Given the description of an element on the screen output the (x, y) to click on. 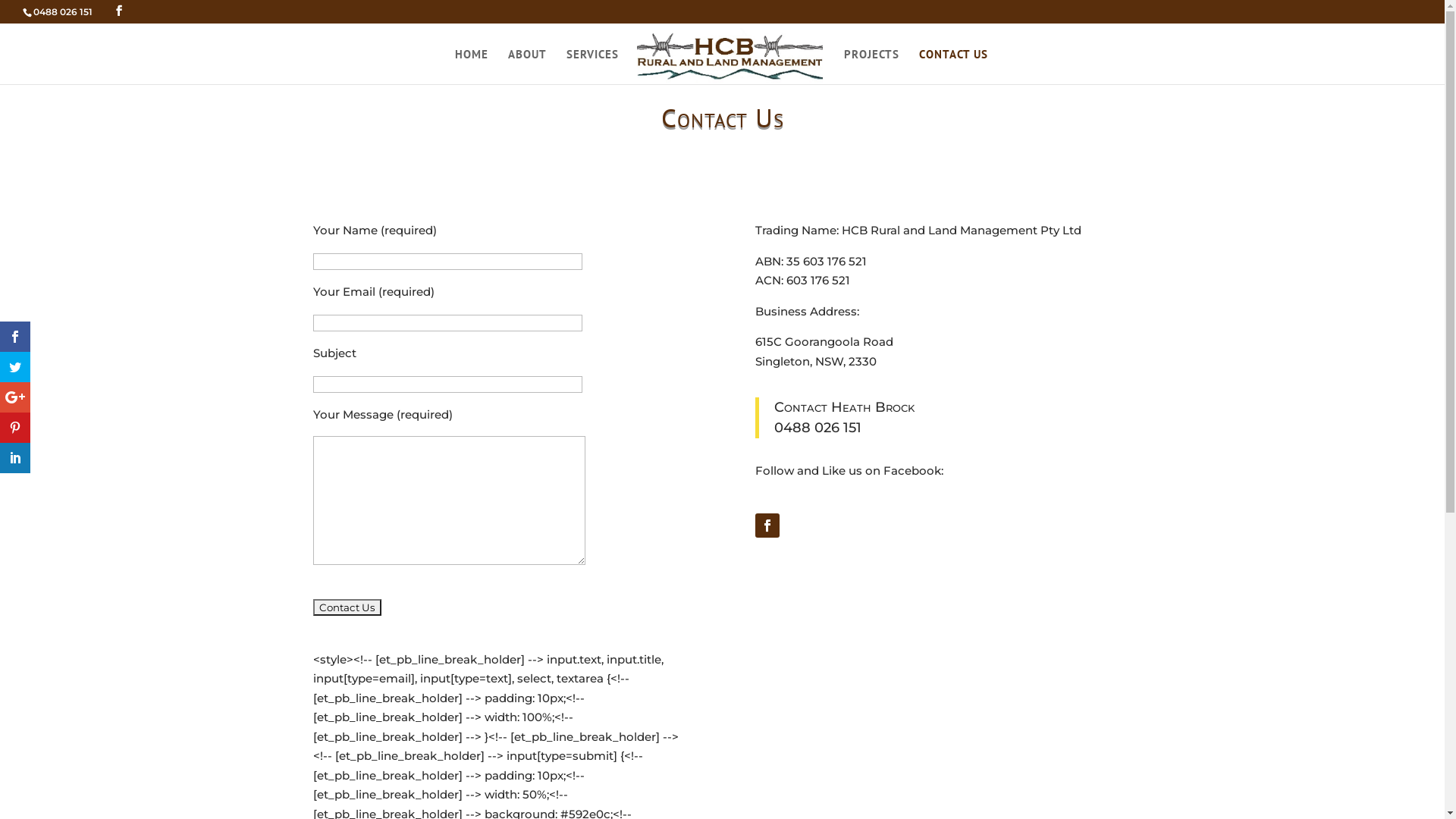
HOME Element type: text (471, 59)
SERVICES Element type: text (592, 59)
CONTACT US Element type: text (953, 59)
Follow on Facebook Element type: hover (767, 525)
Contact Us Element type: text (346, 607)
PROJECTS Element type: text (871, 59)
ABOUT Element type: text (527, 59)
